Given the description of an element on the screen output the (x, y) to click on. 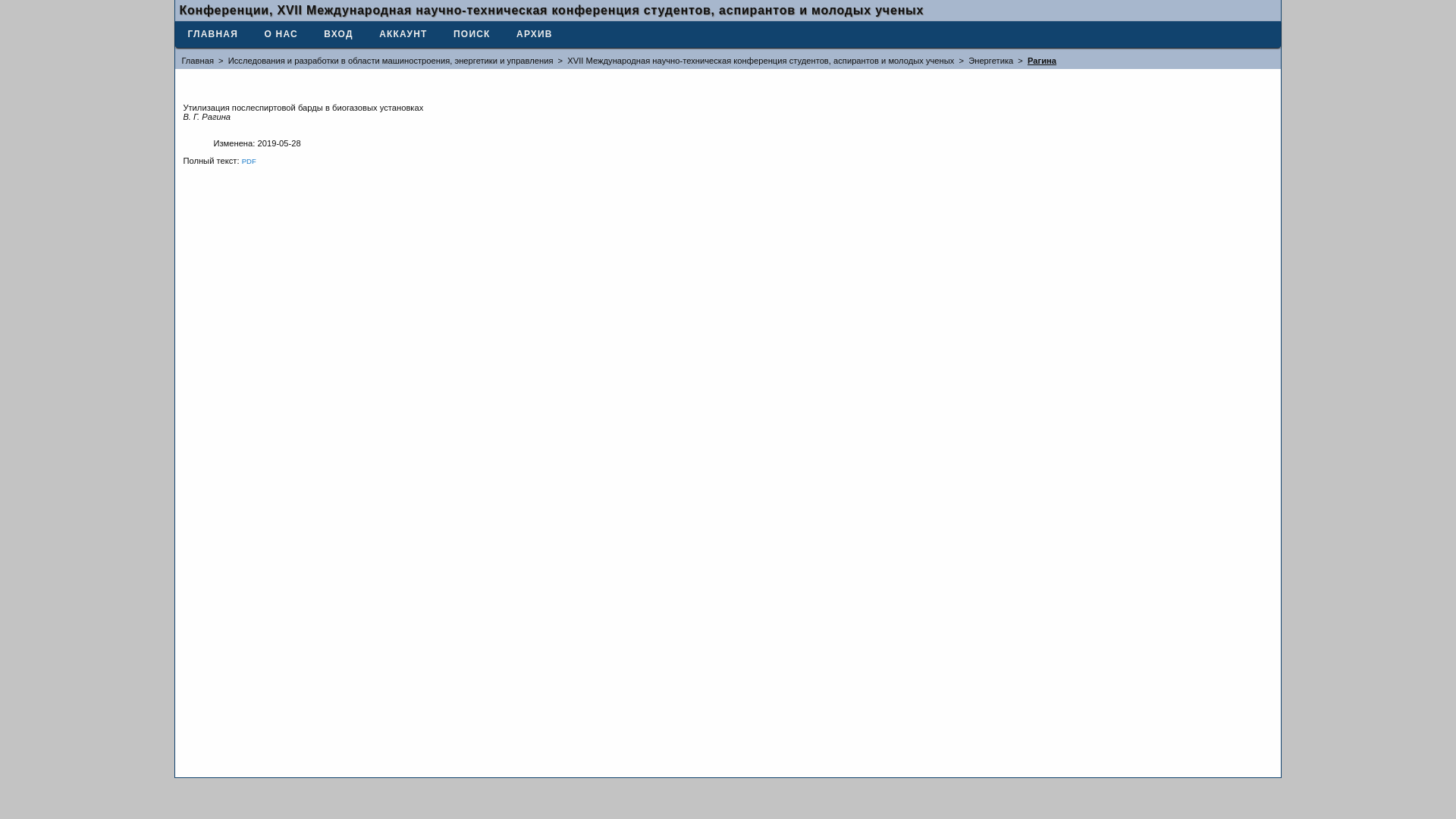
PDF Element type: text (248, 160)
